Given the description of an element on the screen output the (x, y) to click on. 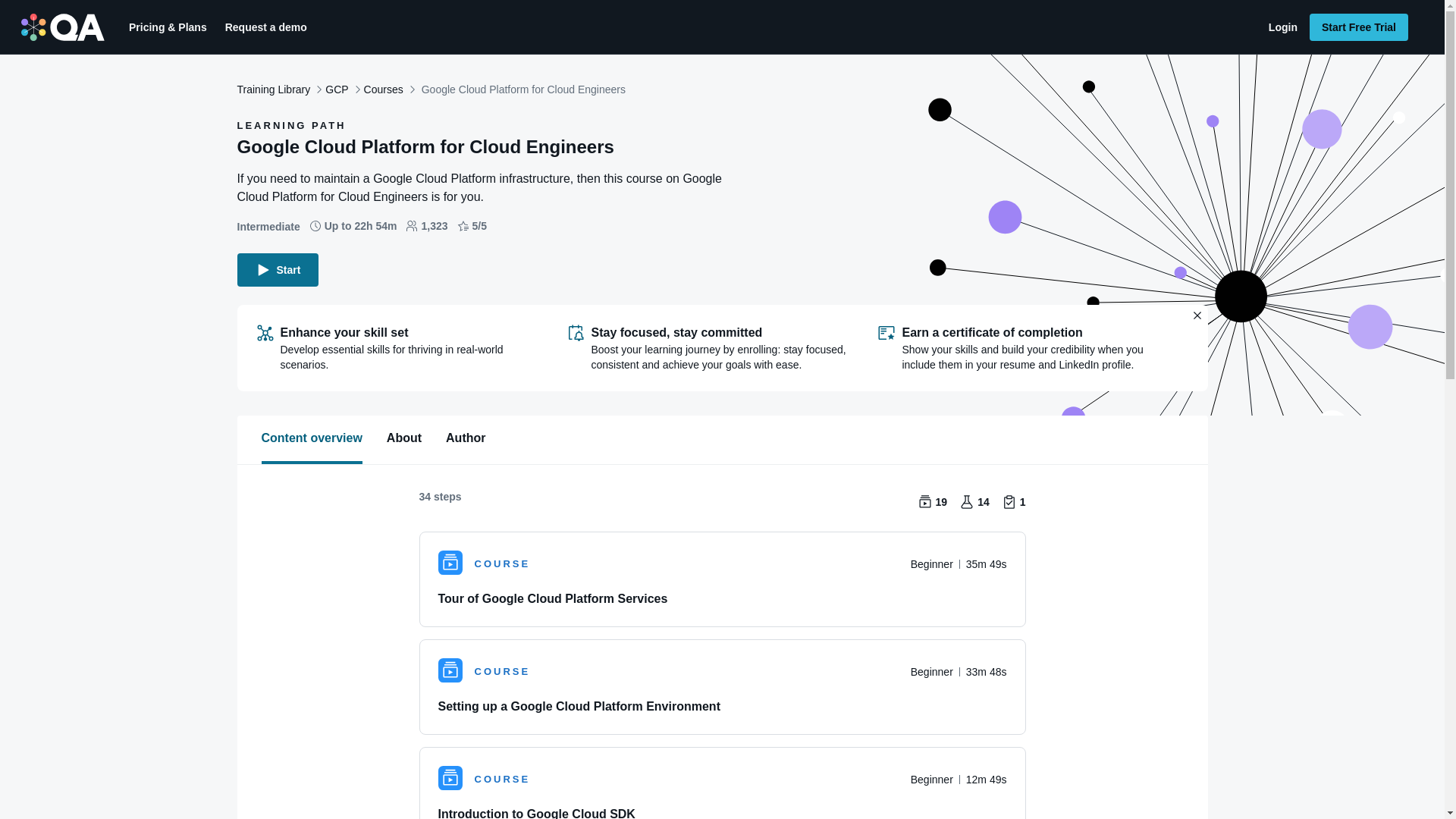
Courses (383, 89)
Content overview (310, 437)
Training Library (272, 89)
Request a demo (266, 26)
Start Free Trial (1357, 26)
Start (276, 269)
Login (1282, 26)
GCP (335, 89)
